Given the description of an element on the screen output the (x, y) to click on. 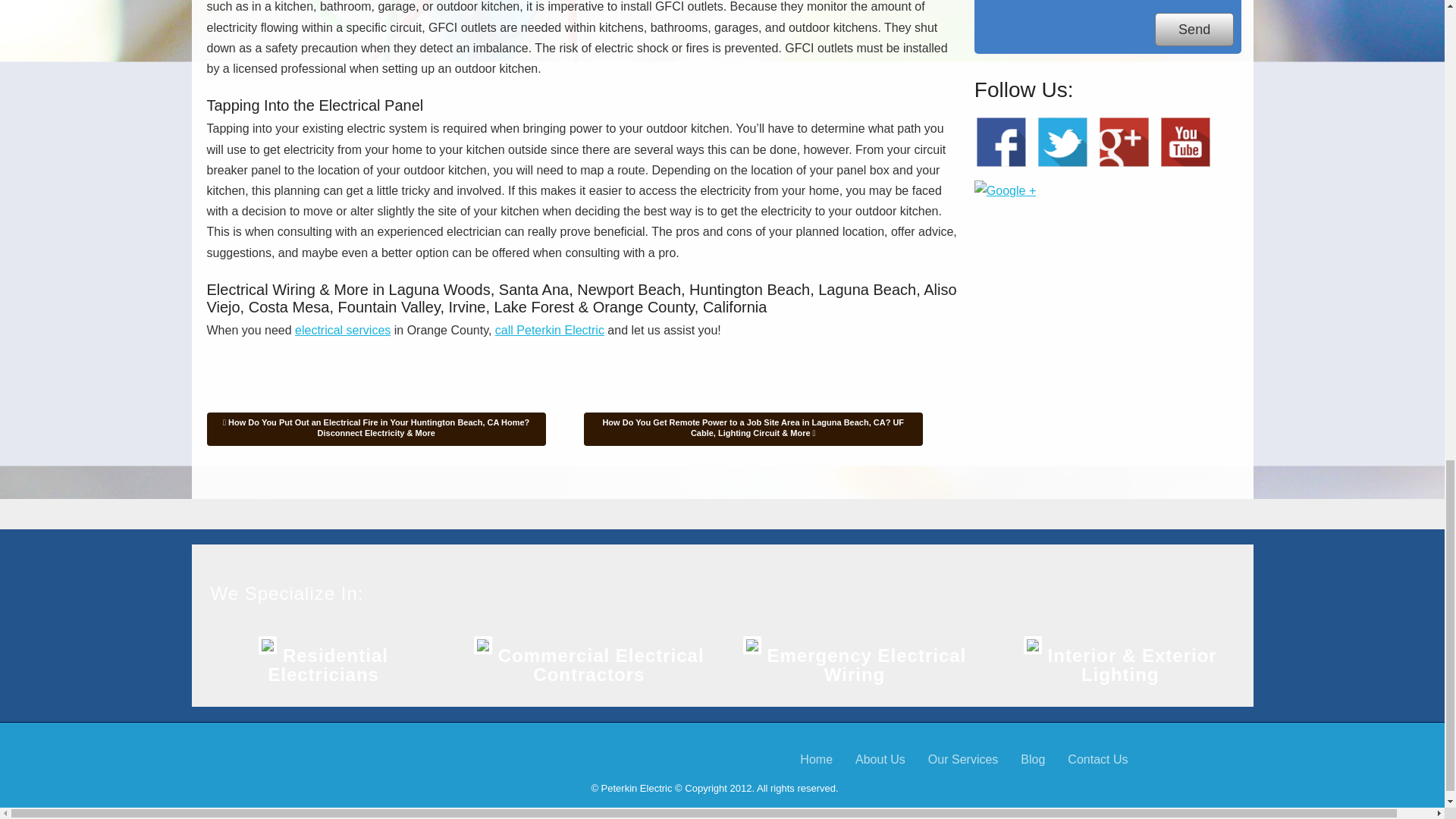
Send (1193, 29)
Send (1193, 29)
Commercial Electrical Contractors (600, 664)
electrical services (342, 329)
Residential Electricians (327, 664)
call Peterkin Electric (549, 329)
